Given the description of an element on the screen output the (x, y) to click on. 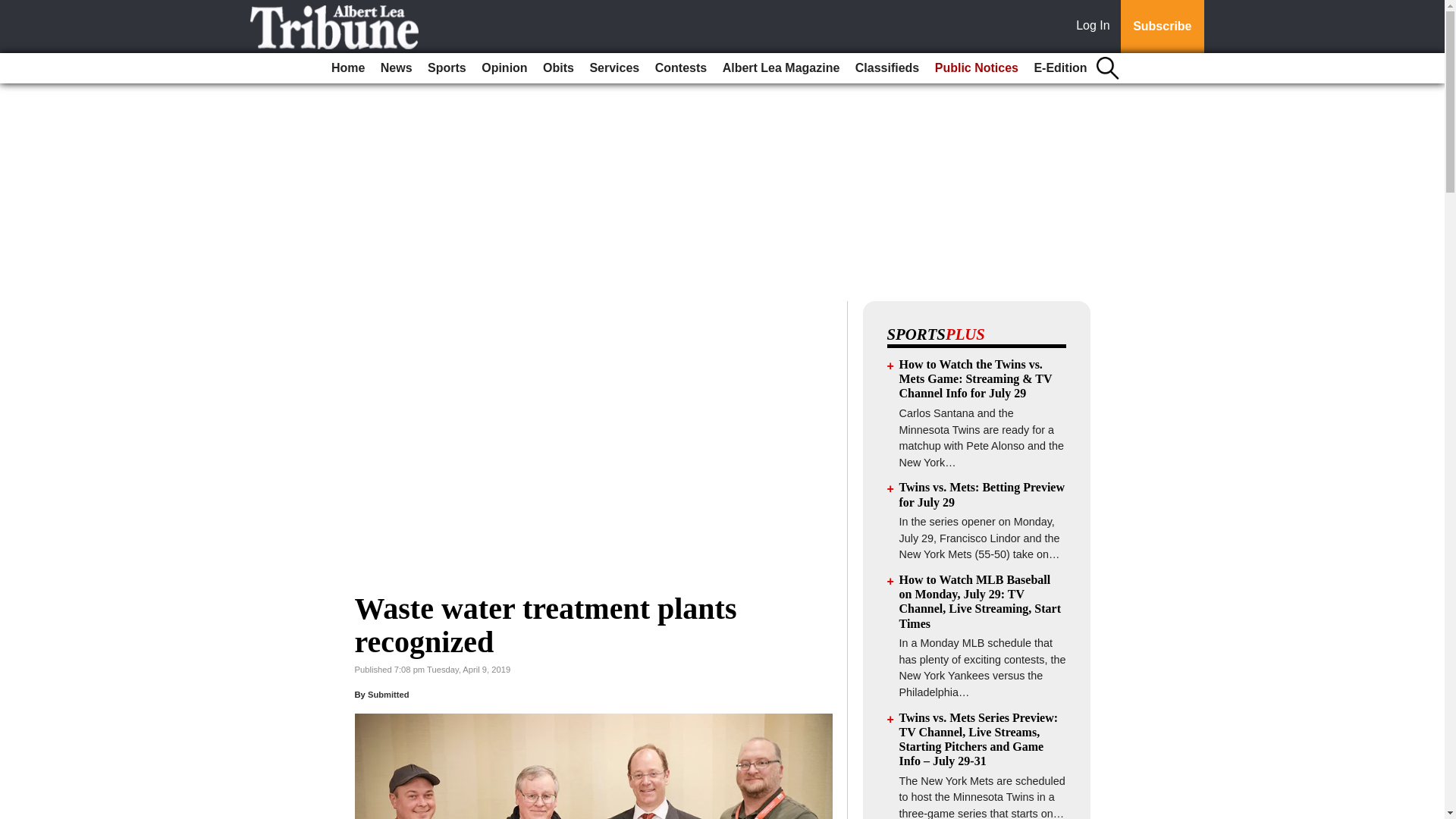
Services (614, 68)
Log In (1095, 26)
Subscribe (1162, 26)
Sports (446, 68)
Obits (558, 68)
Home (347, 68)
Opinion (504, 68)
News (396, 68)
